Given the description of an element on the screen output the (x, y) to click on. 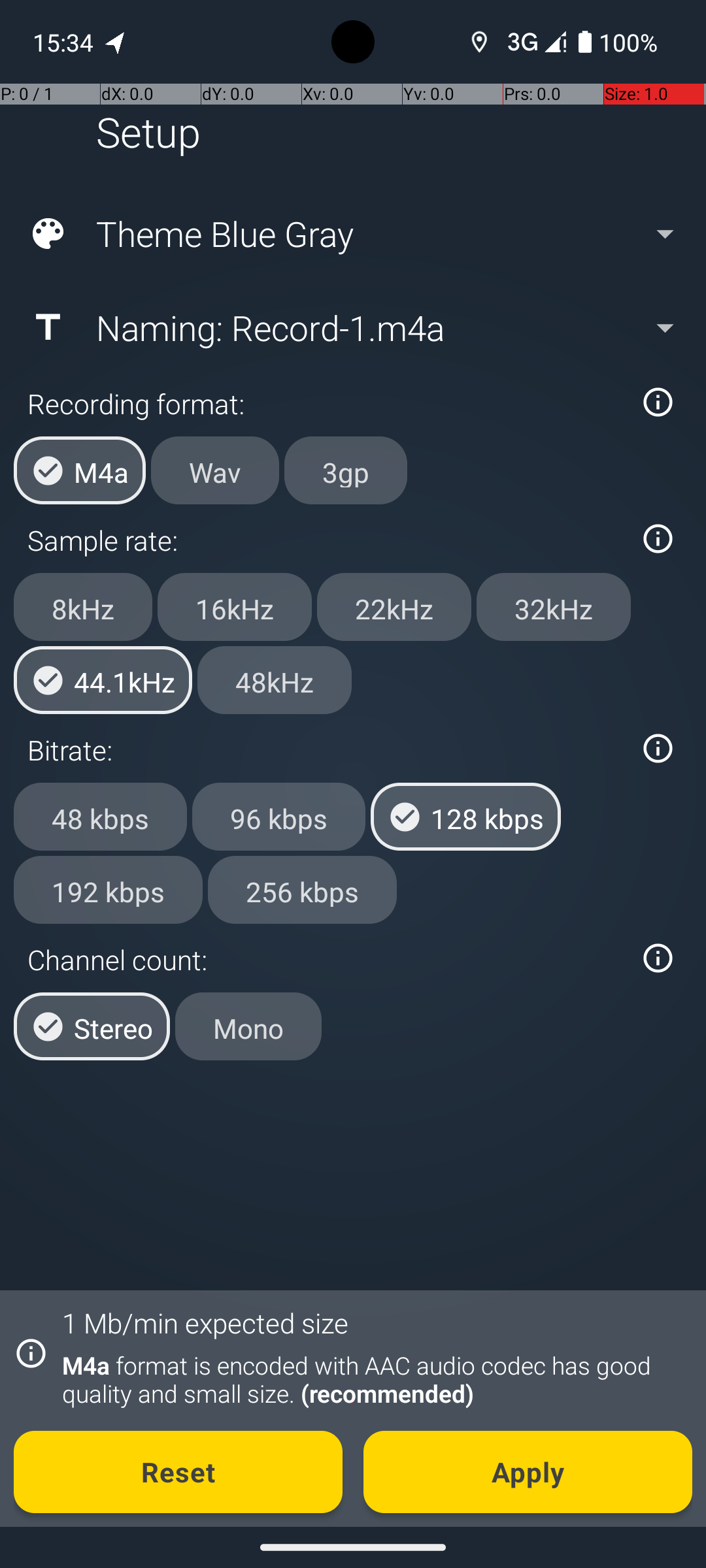
1 Mb/min expected size Element type: android.widget.TextView (205, 1322)
M4a format is encoded with AAC audio codec has good quality and small size. (recommended) Element type: android.widget.TextView (370, 1378)
Reset Element type: android.widget.Button (177, 1471)
Apply Element type: android.widget.Button (527, 1471)
Setup Element type: android.widget.TextView (148, 131)
Recording format: Element type: android.widget.TextView (325, 403)
M4a Element type: android.widget.TextView (79, 470)
Wav Element type: android.widget.TextView (215, 470)
3gp Element type: android.widget.TextView (345, 470)
Sample rate: Element type: android.widget.TextView (325, 539)
44.1kHz Element type: android.widget.TextView (102, 680)
16kHz Element type: android.widget.TextView (234, 606)
22kHz Element type: android.widget.TextView (394, 606)
32kHz Element type: android.widget.TextView (553, 606)
48kHz Element type: android.widget.TextView (274, 680)
8kHz Element type: android.widget.TextView (82, 606)
Bitrate: Element type: android.widget.TextView (325, 749)
128 kbps Element type: android.widget.TextView (465, 816)
192 kbps Element type: android.widget.TextView (107, 889)
256 kbps Element type: android.widget.TextView (301, 889)
48 kbps Element type: android.widget.TextView (99, 816)
96 kbps Element type: android.widget.TextView (278, 816)
Channel count: Element type: android.widget.TextView (325, 959)
Stereo Element type: android.widget.TextView (91, 1026)
Mono Element type: android.widget.TextView (248, 1026)
Theme Blue Gray Element type: android.widget.TextView (352, 233)
Naming: Record-1.m4a Element type: android.widget.TextView (352, 327)
OpenTracks notification: Distance: 0.00 ft Element type: android.widget.ImageView (115, 41)
Location requests active Element type: android.widget.ImageView (479, 41)
Phone three bars. Element type: android.widget.FrameLayout (534, 41)
